Given the description of an element on the screen output the (x, y) to click on. 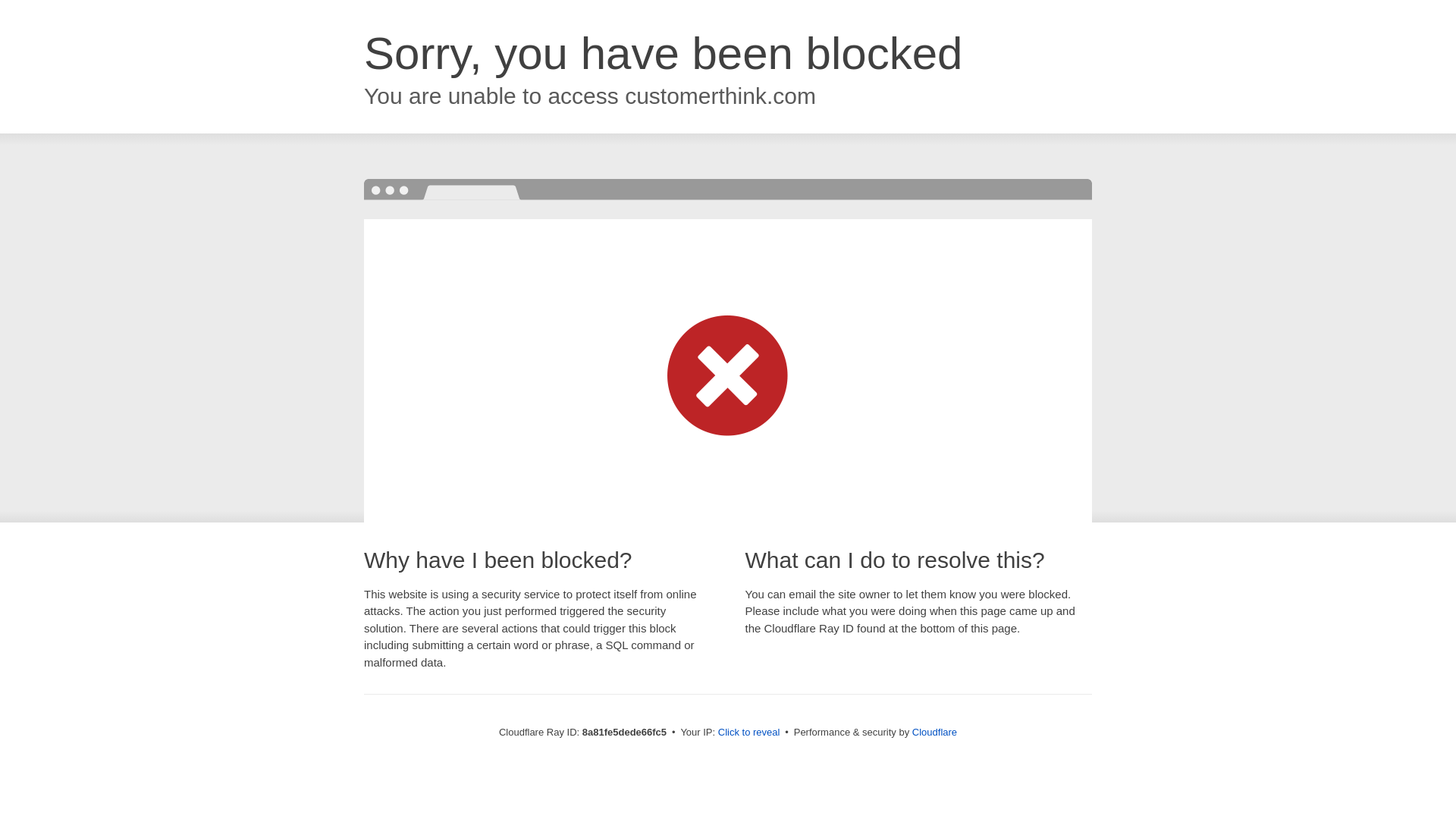
Cloudflare (934, 731)
Click to reveal (748, 732)
